Given the description of an element on the screen output the (x, y) to click on. 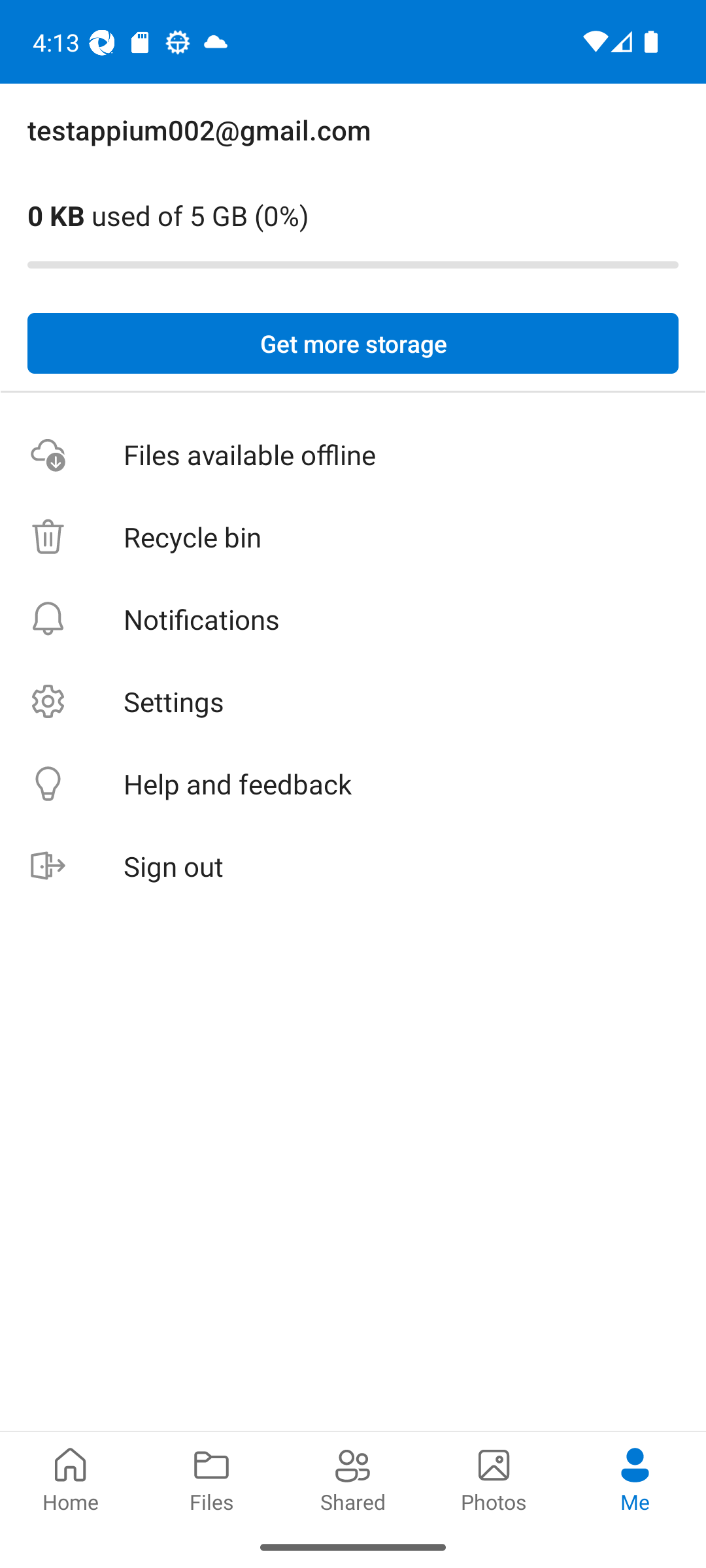
Get more storage (352, 343)
Files available offline (353, 454)
Recycle bin (353, 536)
Notifications (353, 619)
Settings (353, 701)
Help and feedback (353, 783)
Sign out (353, 865)
Home pivot Home (70, 1478)
Files pivot Files (211, 1478)
Shared pivot Shared (352, 1478)
Photos pivot Photos (493, 1478)
